Given the description of an element on the screen output the (x, y) to click on. 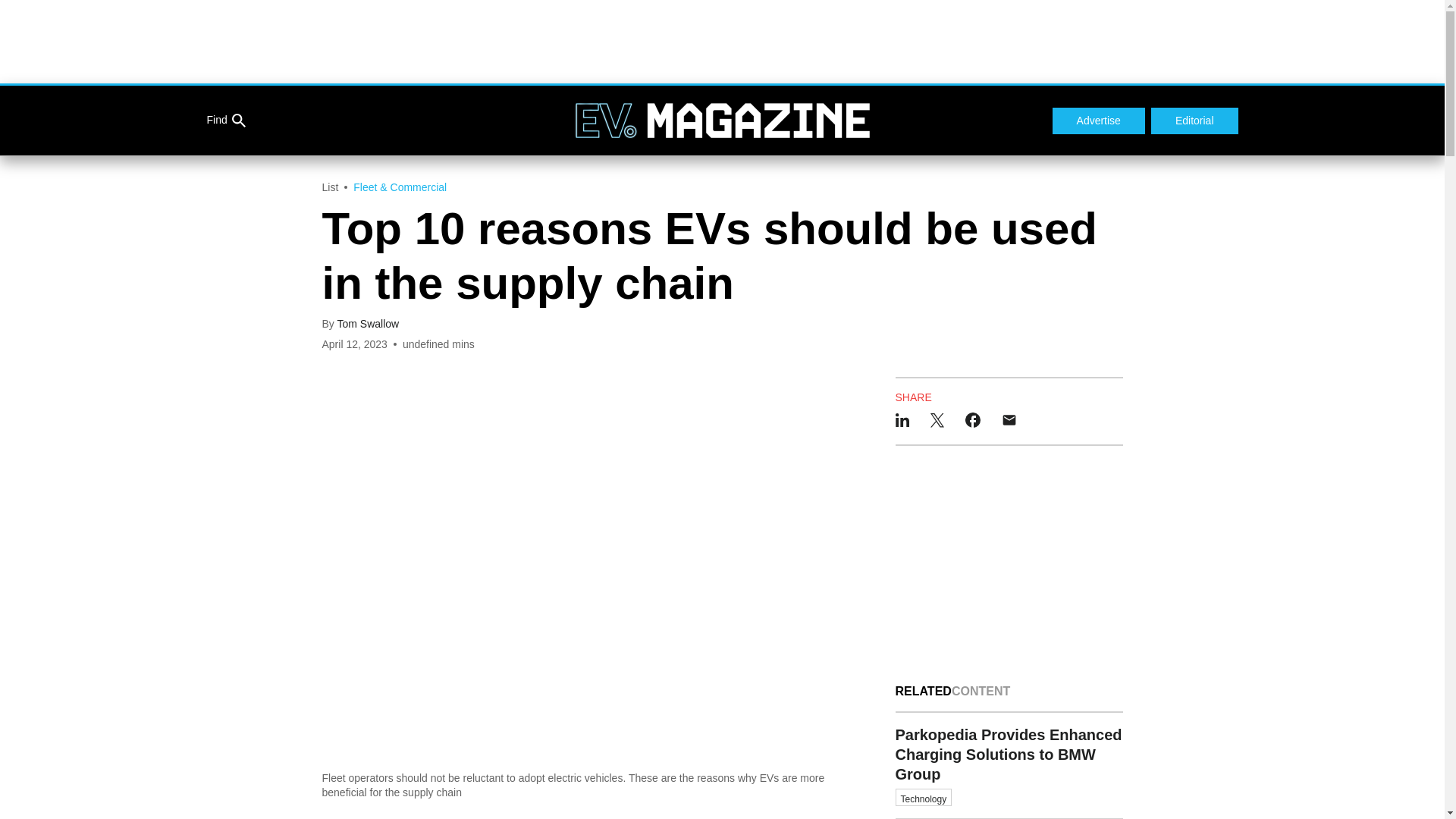
Find (225, 120)
Advertise (1098, 121)
Editorial (1195, 121)
Tom Swallow (367, 323)
